Given the description of an element on the screen output the (x, y) to click on. 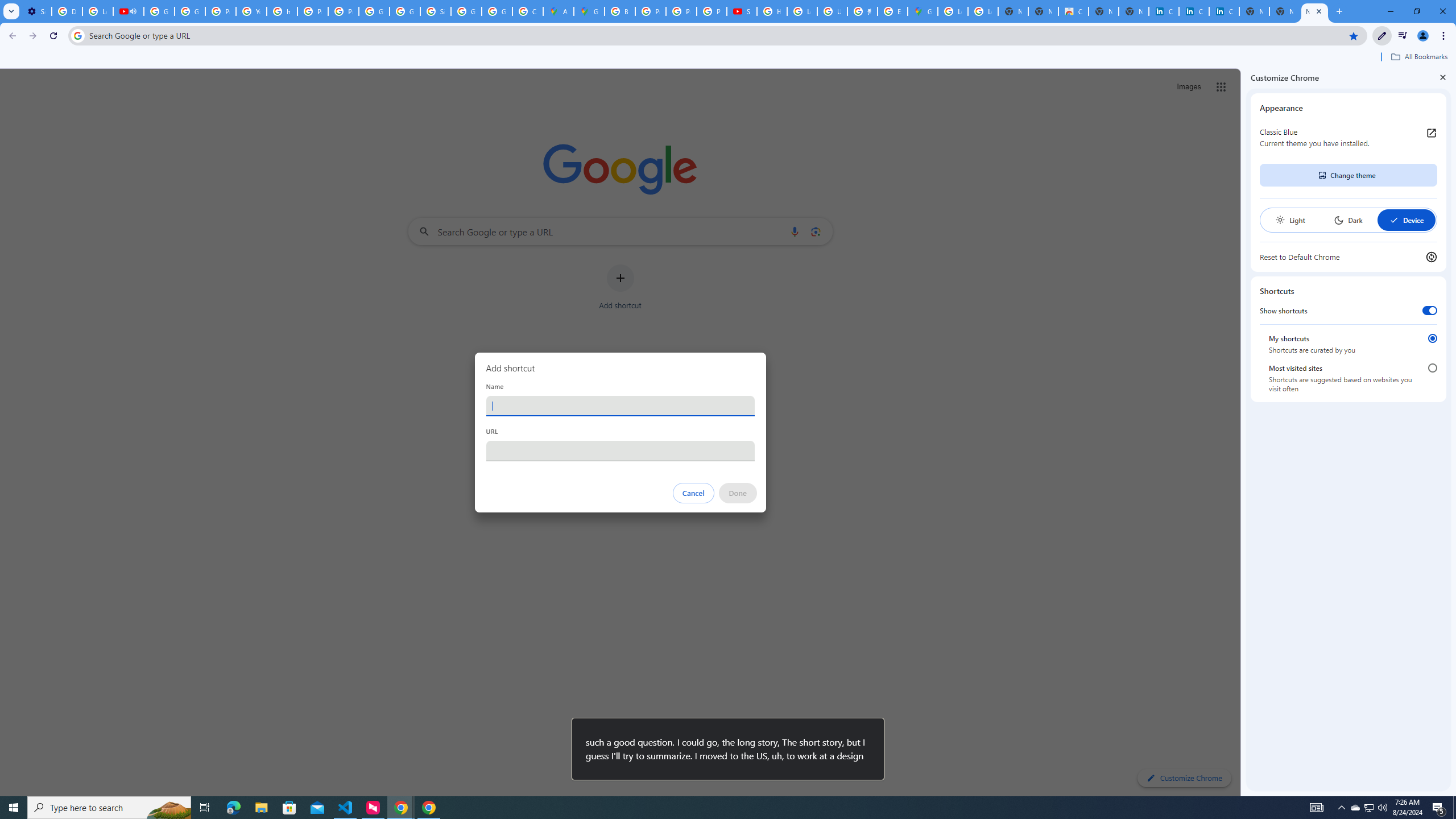
Chrome Web Store (1072, 11)
Copyright Policy (1224, 11)
New Tab (1314, 11)
Reset to Default Chrome (1347, 256)
Privacy Help Center - Policies Help (220, 11)
Change theme (1348, 174)
Dark (1348, 219)
Light (1289, 219)
Privacy Help Center - Policies Help (681, 11)
URL (620, 450)
